Given the description of an element on the screen output the (x, y) to click on. 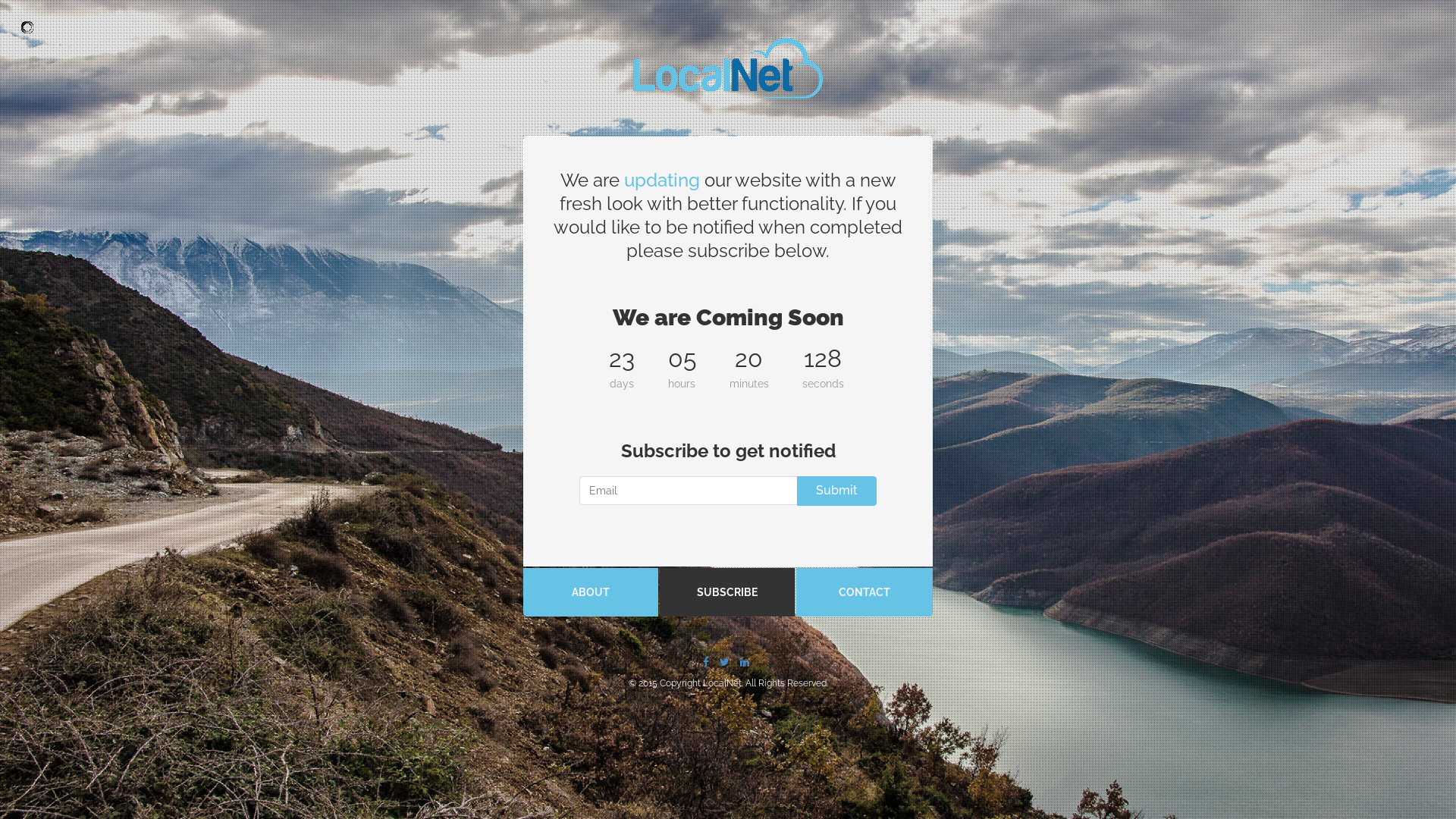
SUBSCRIBE Element type: text (726, 591)
Submit Element type: text (836, 490)
ABOUT Element type: text (590, 591)
CONTACT Element type: text (864, 591)
